Given the description of an element on the screen output the (x, y) to click on. 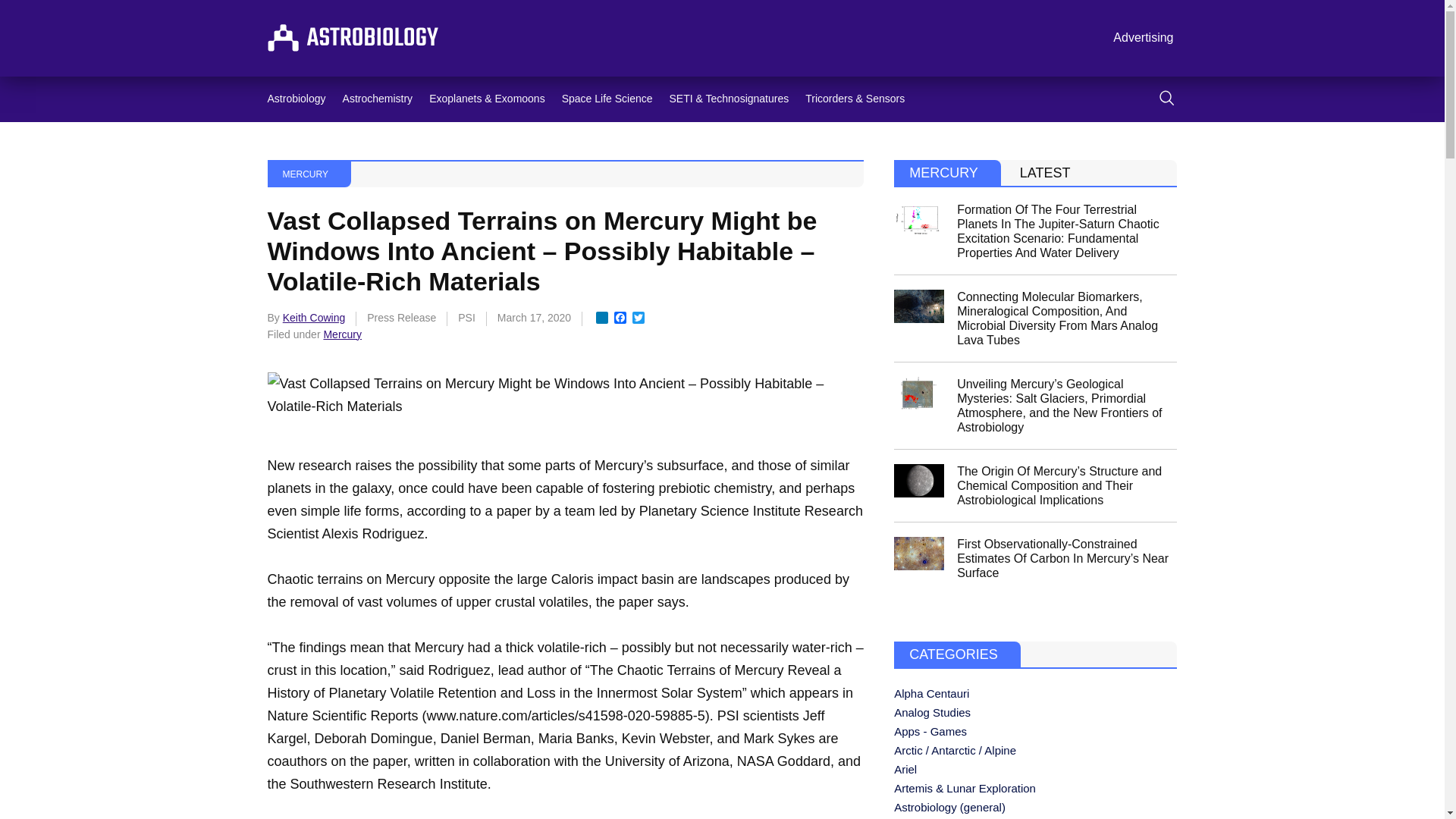
Twitter (637, 318)
Astrochemistry (377, 98)
Twitter (637, 318)
Space Life Science (607, 98)
Mercury (342, 334)
MERCURY (304, 173)
Facebook (619, 318)
Keith Cowing (314, 317)
Astrobiology (295, 98)
LinkedIn (601, 318)
LinkedIn (601, 318)
Advertising (1142, 37)
Facebook (619, 318)
